Given the description of an element on the screen output the (x, y) to click on. 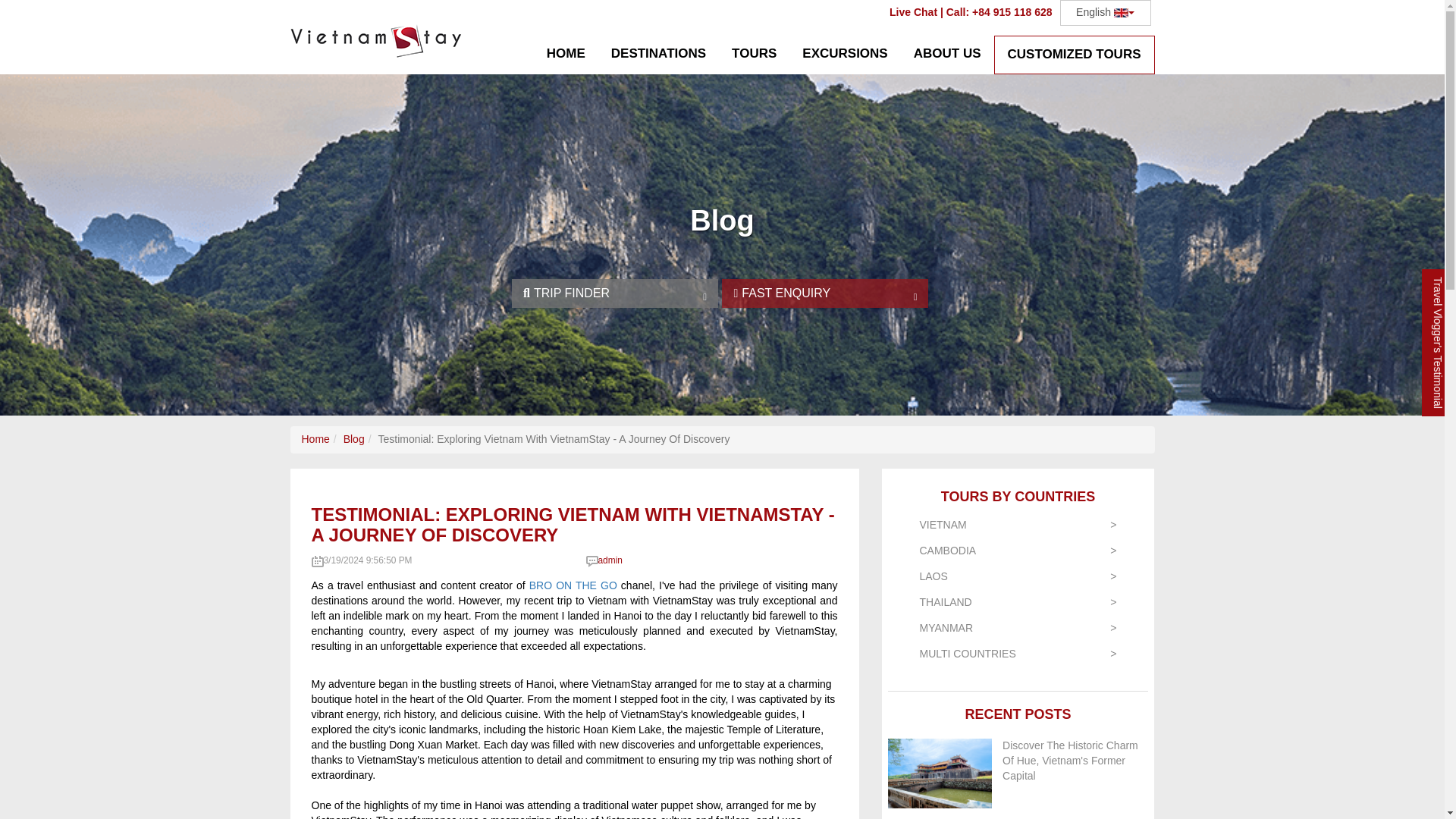
DESTINATIONS (658, 54)
HOME (566, 54)
English (1105, 12)
Live Chat (913, 11)
TOURS (754, 54)
